Given the description of an element on the screen output the (x, y) to click on. 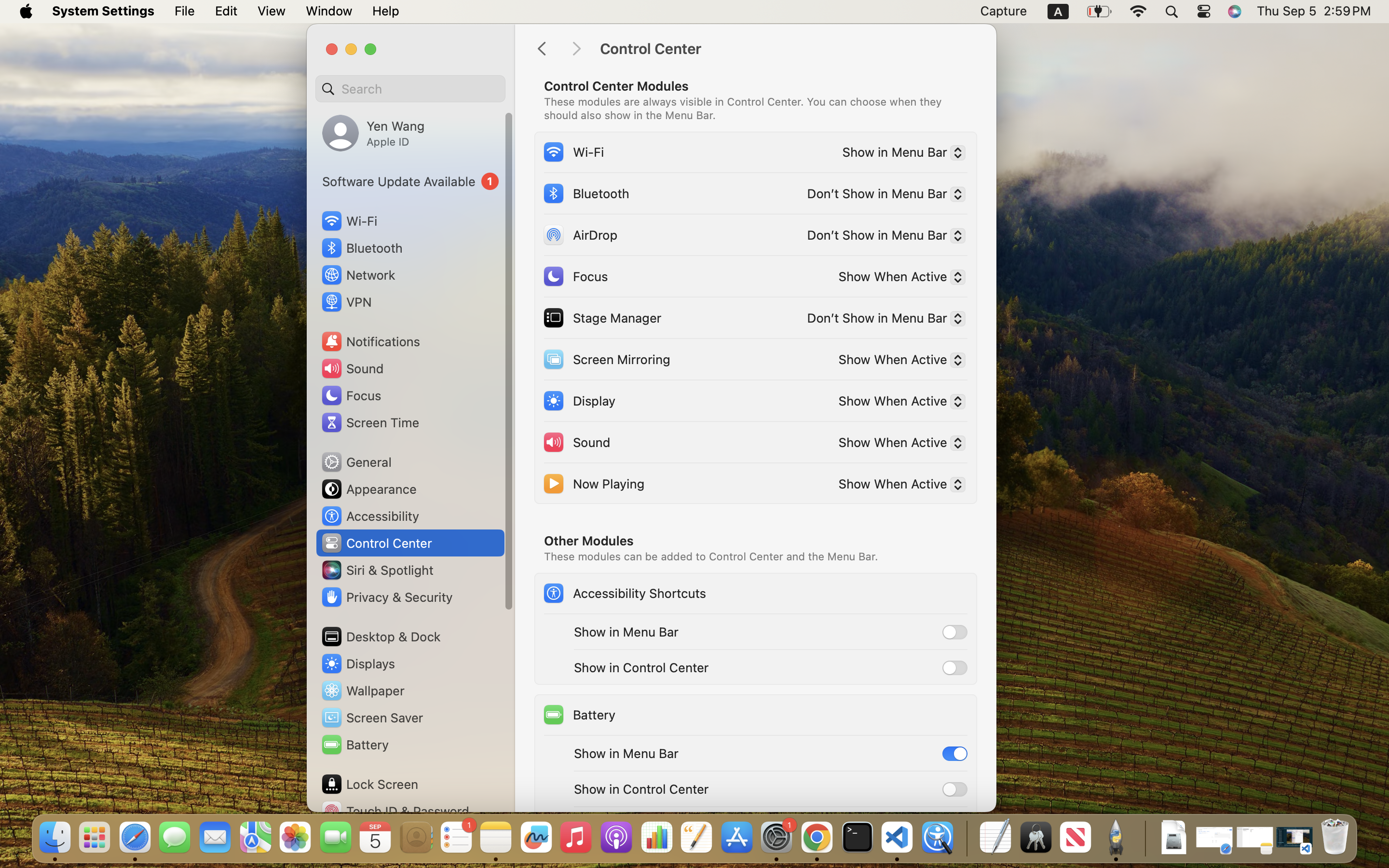
Show in Menu Bar Element type: AXPopUpButton (899, 153)
Don’t Show in Menu Bar Element type: AXPopUpButton (881, 236)
Display Element type: AXStaticText (578, 399)
Wi‑Fi Element type: AXStaticText (572, 150)
